Given the description of an element on the screen output the (x, y) to click on. 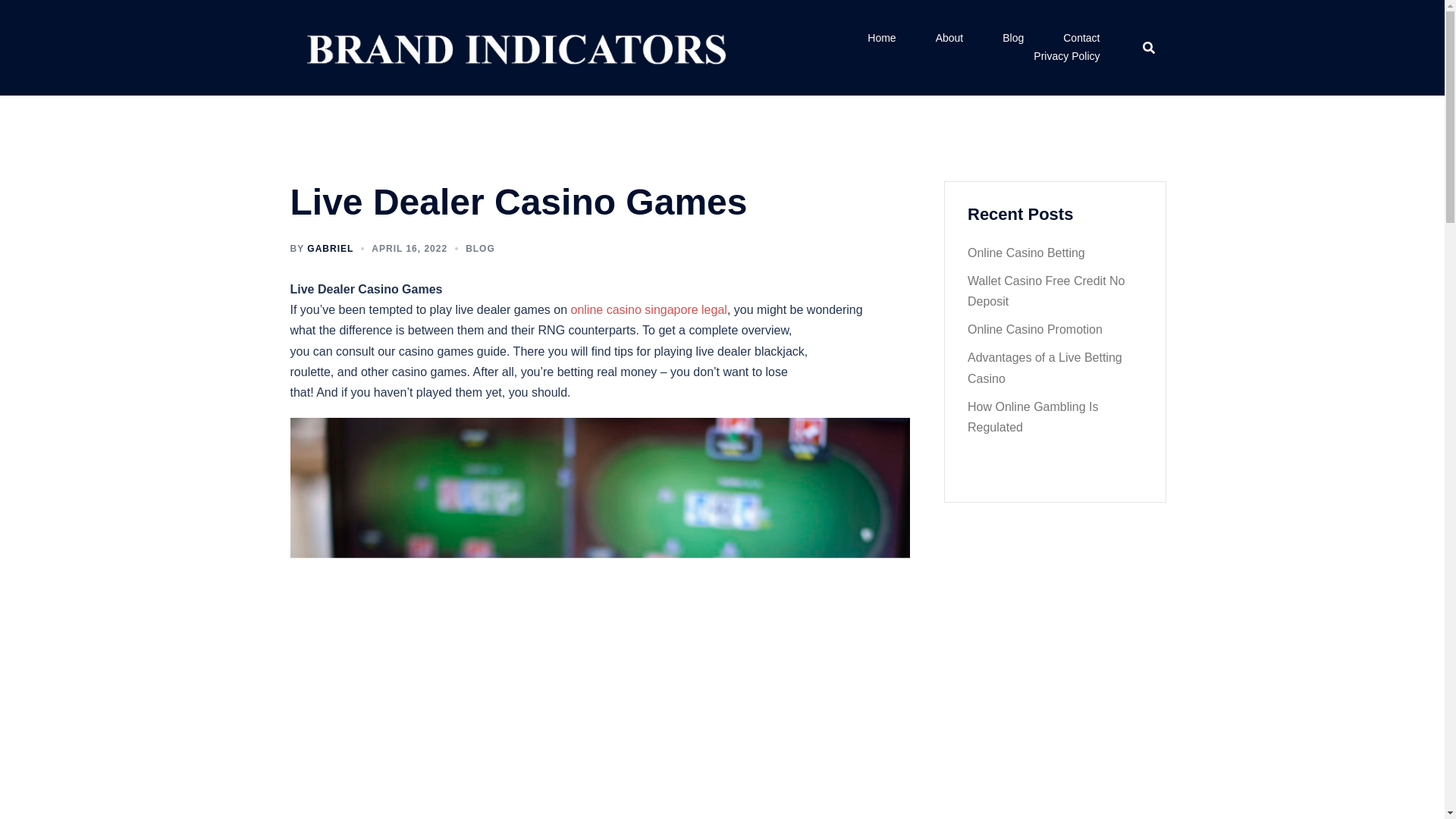
How Online Gambling Is Regulated (1033, 417)
online casino singapore legal (648, 309)
Advantages of a Live Betting Casino  (1045, 367)
BLOG (480, 248)
Online Casino Betting (1026, 252)
Online Casino Promotion (1035, 328)
About (949, 38)
Contact (1080, 38)
Brand Indicators (512, 46)
Blog (1013, 38)
Wallet Casino Free Credit No Deposit (1046, 290)
APRIL 16, 2022 (408, 248)
GABRIEL (330, 248)
Privacy Policy (1066, 56)
Home (881, 38)
